Given the description of an element on the screen output the (x, y) to click on. 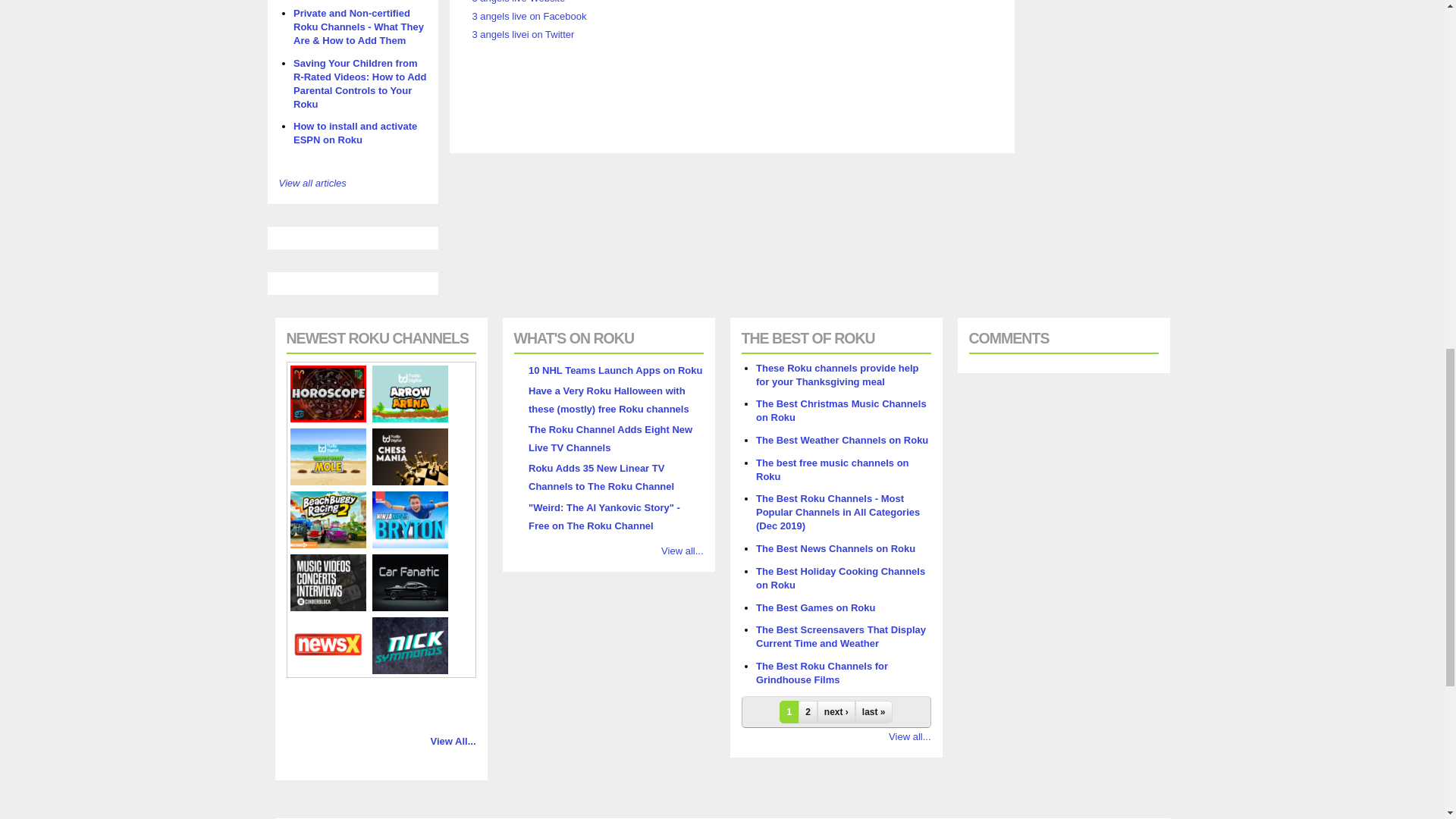
The Roku Channel Adds Eight New Live TV Channels (610, 438)
Click to view all articles (312, 183)
3 angels live Website (517, 2)
3 angels livei on Twitter (522, 34)
View all articles (312, 183)
Go to page 2 (806, 712)
View All... (453, 740)
10 NHL Teams Launch Apps on Roku (614, 369)
Go to last page (874, 712)
How to install and activate ESPN on Roku (355, 132)
3 angels live on Facebook (528, 16)
Go to next page (836, 712)
